Given the description of an element on the screen output the (x, y) to click on. 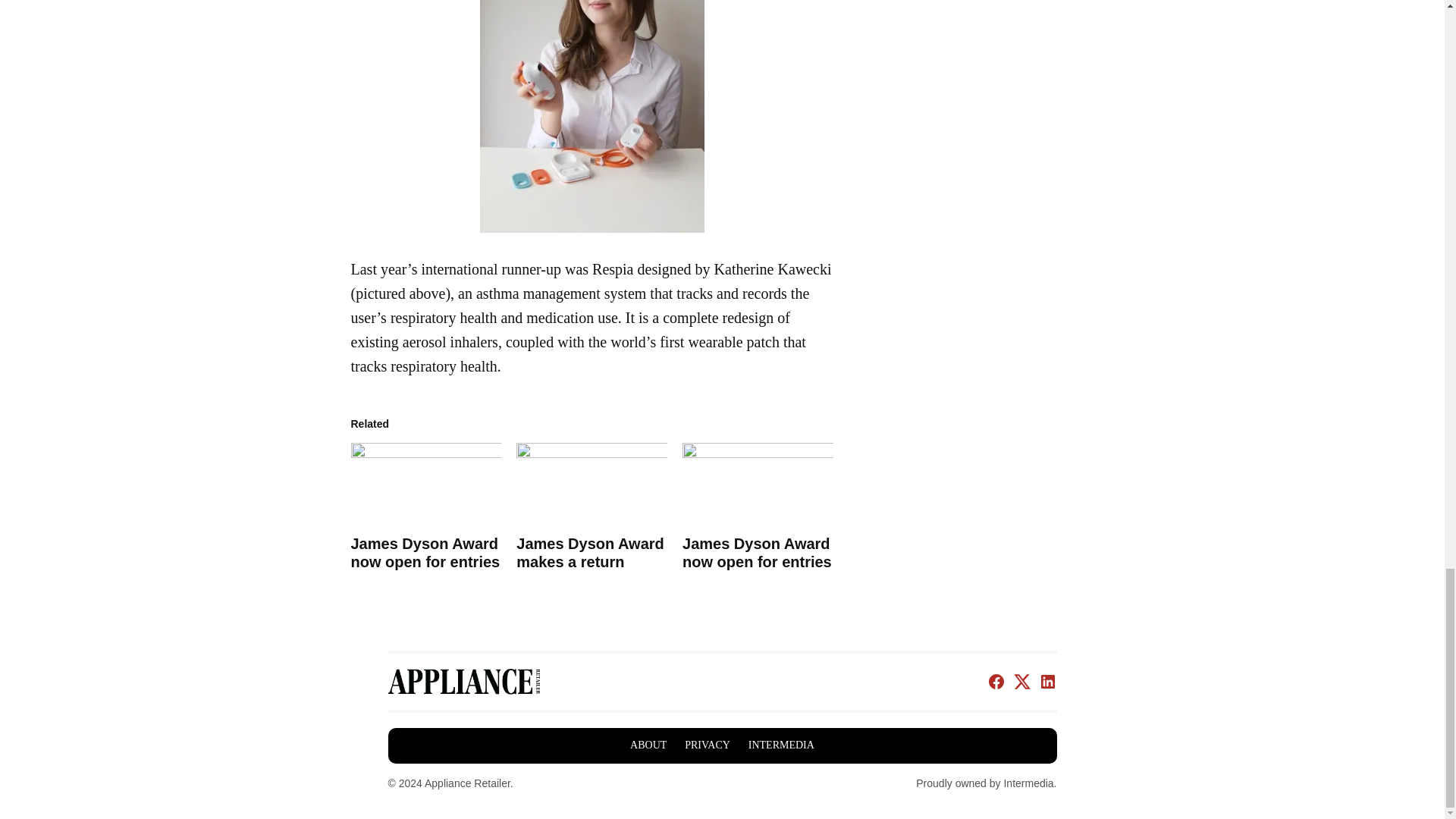
James Dyson Award now open for entries (757, 483)
James Dyson Award now open for entries (424, 552)
James Dyson Award makes a return (589, 552)
James Dyson Award now open for entries (756, 552)
James Dyson Award now open for entries (425, 483)
James Dyson Award makes a return (591, 483)
